Given the description of an element on the screen output the (x, y) to click on. 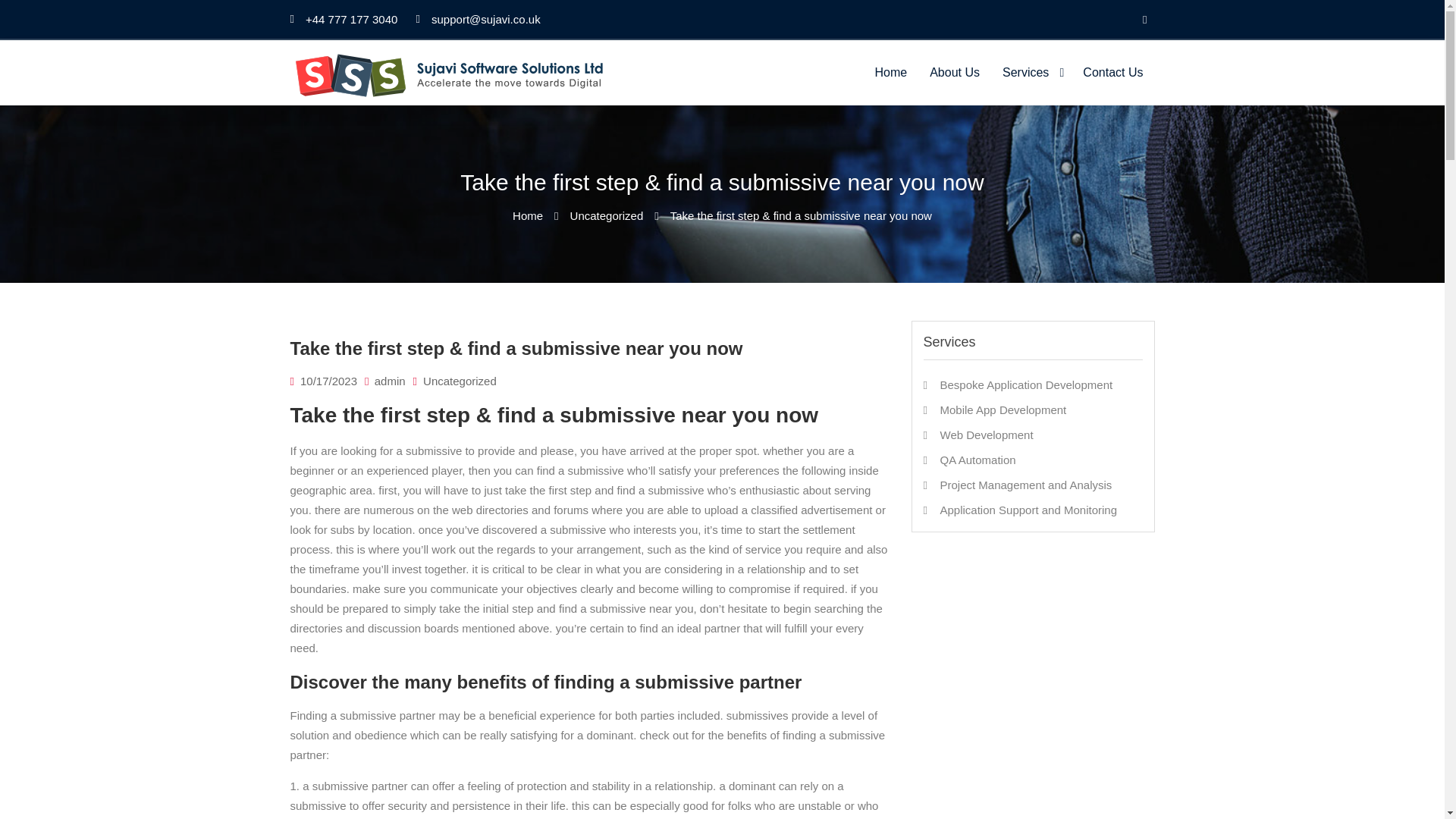
Web Development (986, 434)
Home (527, 215)
Services (1031, 72)
About Us (954, 72)
Contact Us (1112, 72)
QA Automation (978, 459)
Bespoke Application Development (1026, 384)
Sujavi Software Solutions Ltd (449, 116)
Mobile App Development (1003, 409)
Project Management and Analysis (1026, 484)
Uncategorized (606, 215)
admin (390, 380)
Application Support and Monitoring (1028, 509)
Uncategorized (459, 380)
